Given the description of an element on the screen output the (x, y) to click on. 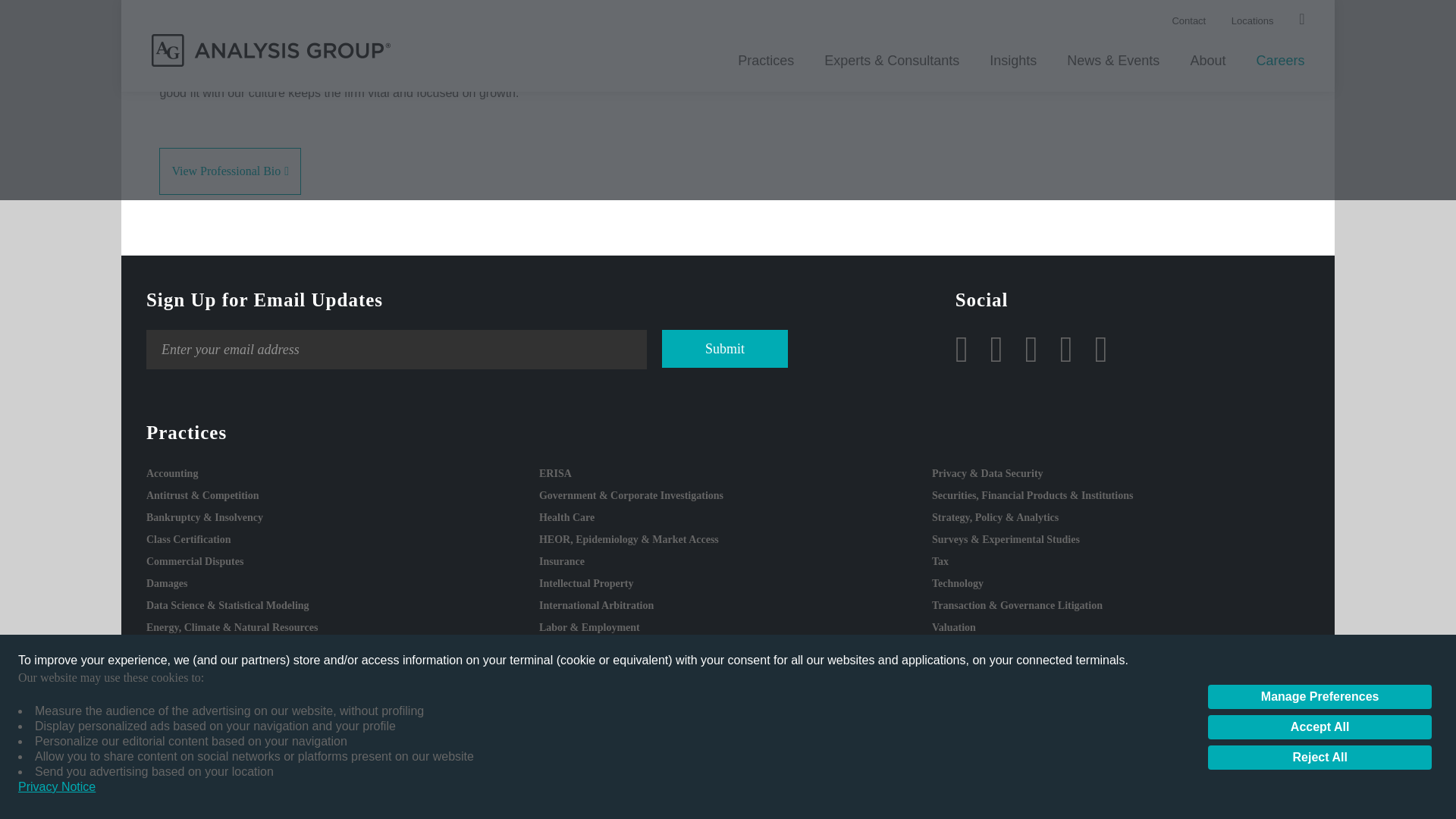
Privacy Notice (56, 168)
Manage Preferences (1319, 78)
Reject All (1319, 138)
Accept All (1319, 108)
